Given the description of an element on the screen output the (x, y) to click on. 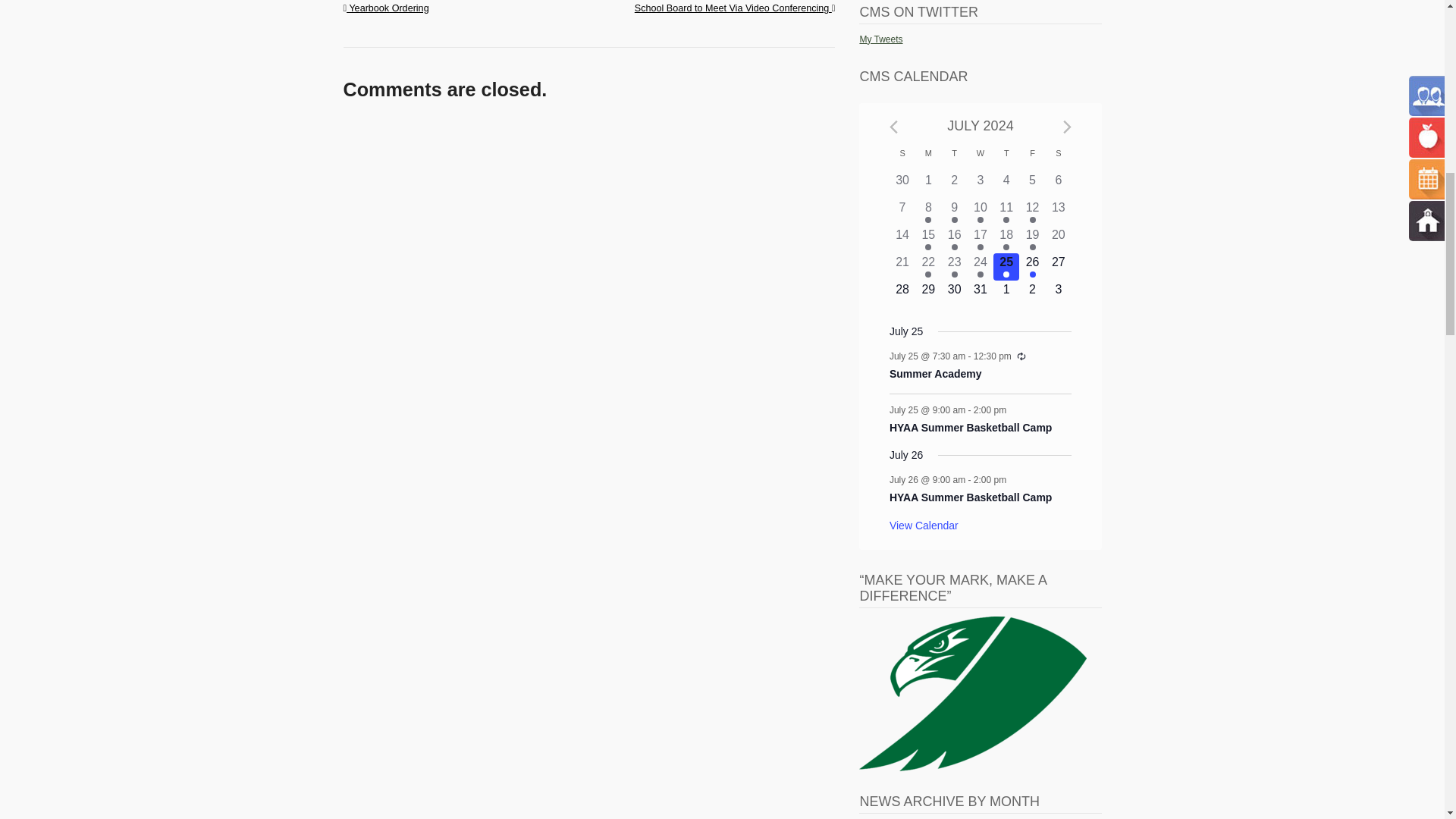
Has events (927, 219)
Has events (955, 219)
